Given the description of an element on the screen output the (x, y) to click on. 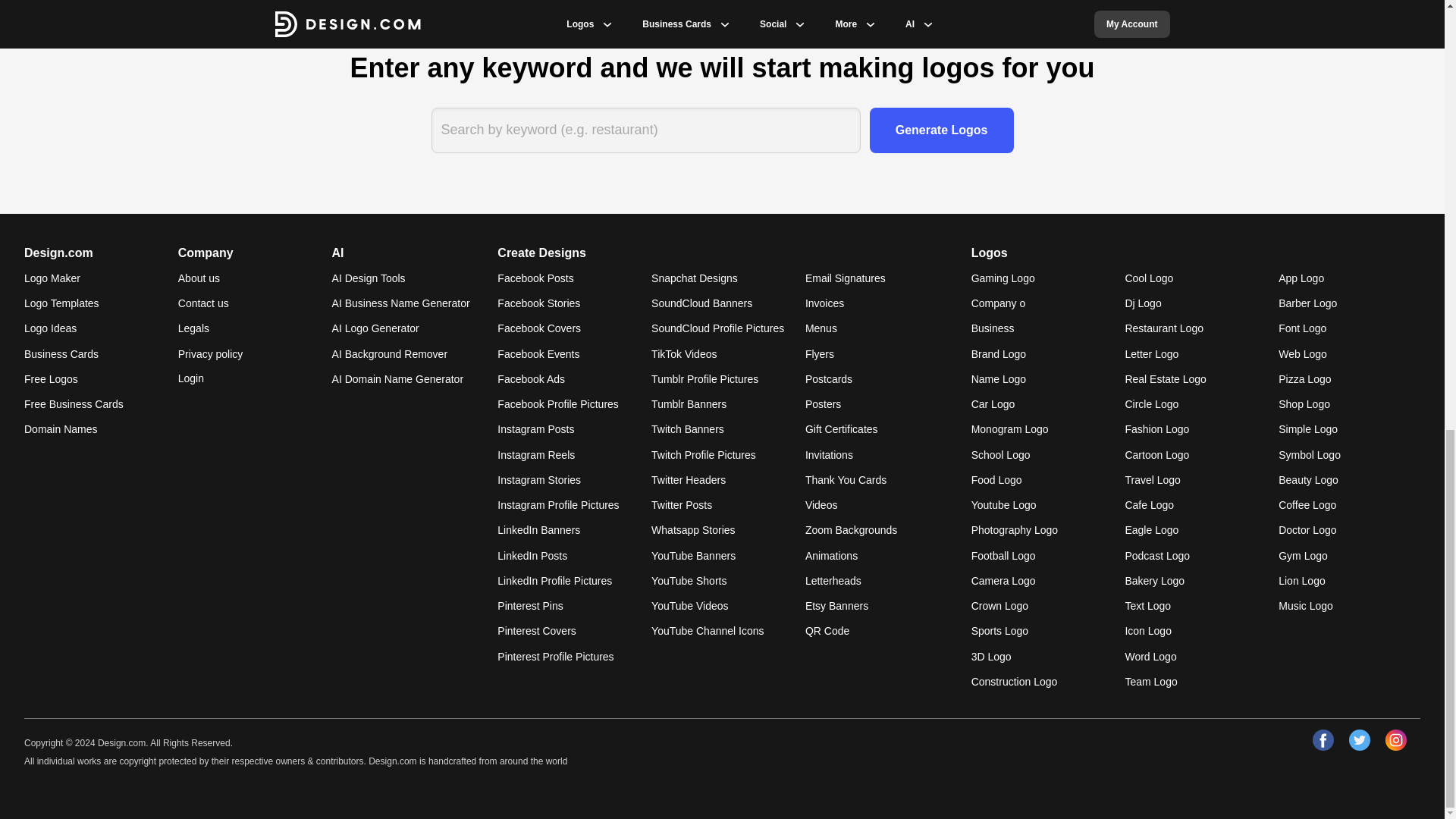
facebook (1323, 740)
instagram (1395, 740)
twitter (1359, 740)
